Given the description of an element on the screen output the (x, y) to click on. 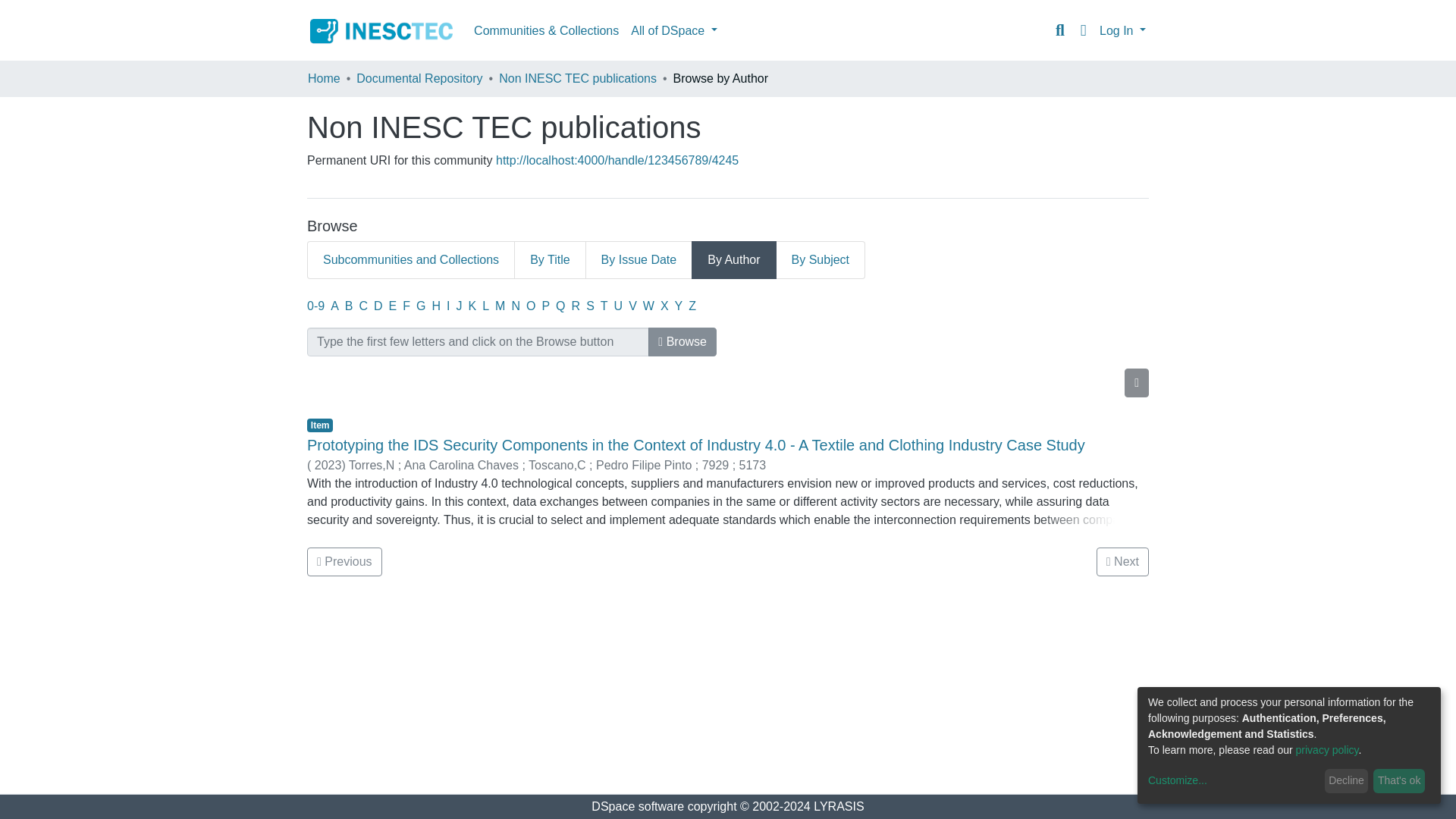
By Author (733, 259)
Non INESC TEC publications (577, 78)
Search (1059, 30)
By Subject (820, 259)
By Title (549, 259)
Home (323, 78)
0-9 (315, 305)
All of DSpace (673, 30)
Subcommunities and Collections (411, 259)
By Issue Date (639, 259)
Log In (1122, 30)
Language switch (1083, 30)
Documental Repository (418, 78)
